Given the description of an element on the screen output the (x, y) to click on. 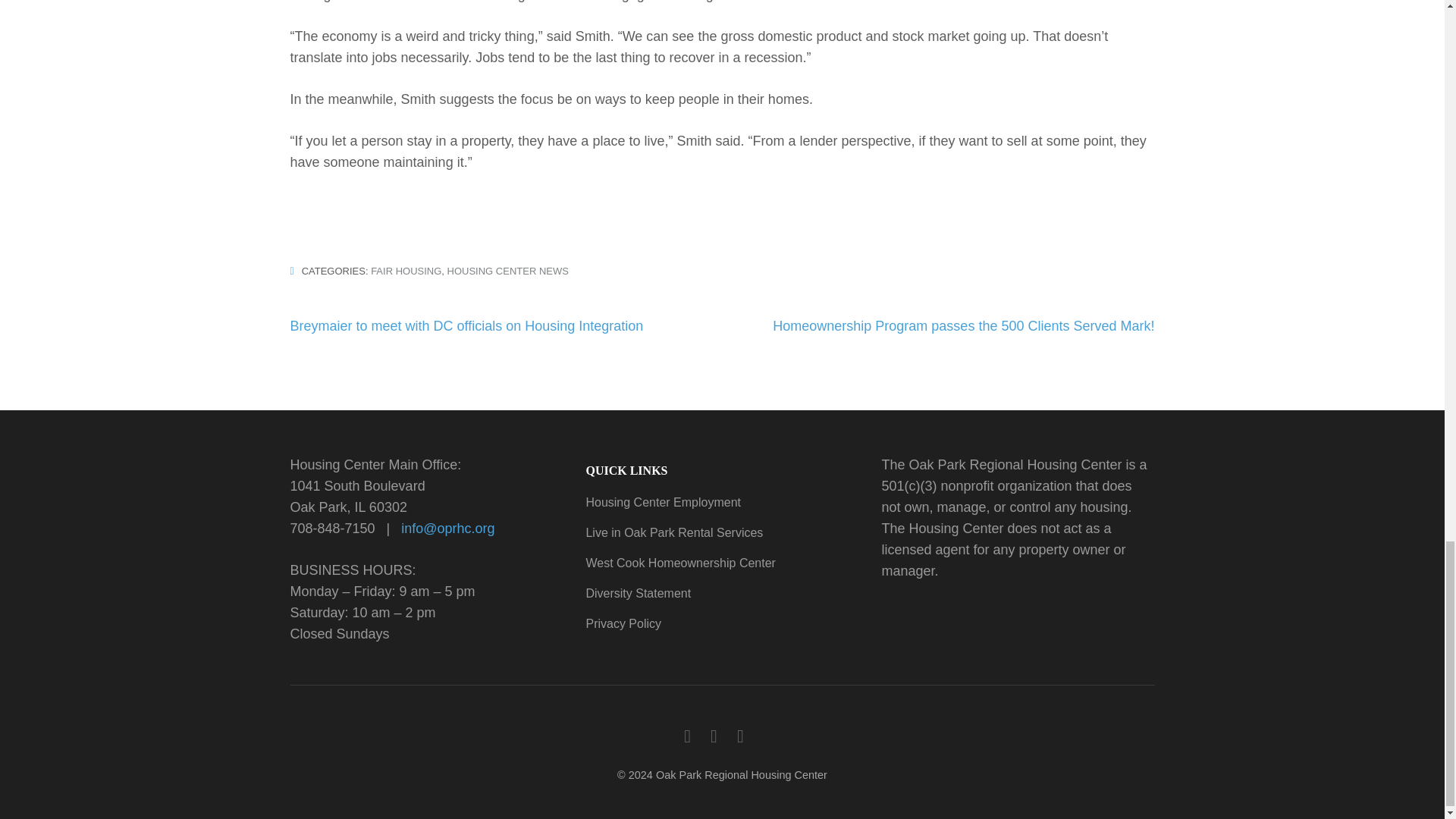
Homeownership Program passes the 500 Clients Served Mark! (963, 325)
FAIR HOUSING (406, 270)
Housing Center Employment (663, 502)
Breymaier to meet with DC officials on Housing Integration (466, 325)
HOUSING CENTER NEWS (507, 270)
